Given the description of an element on the screen output the (x, y) to click on. 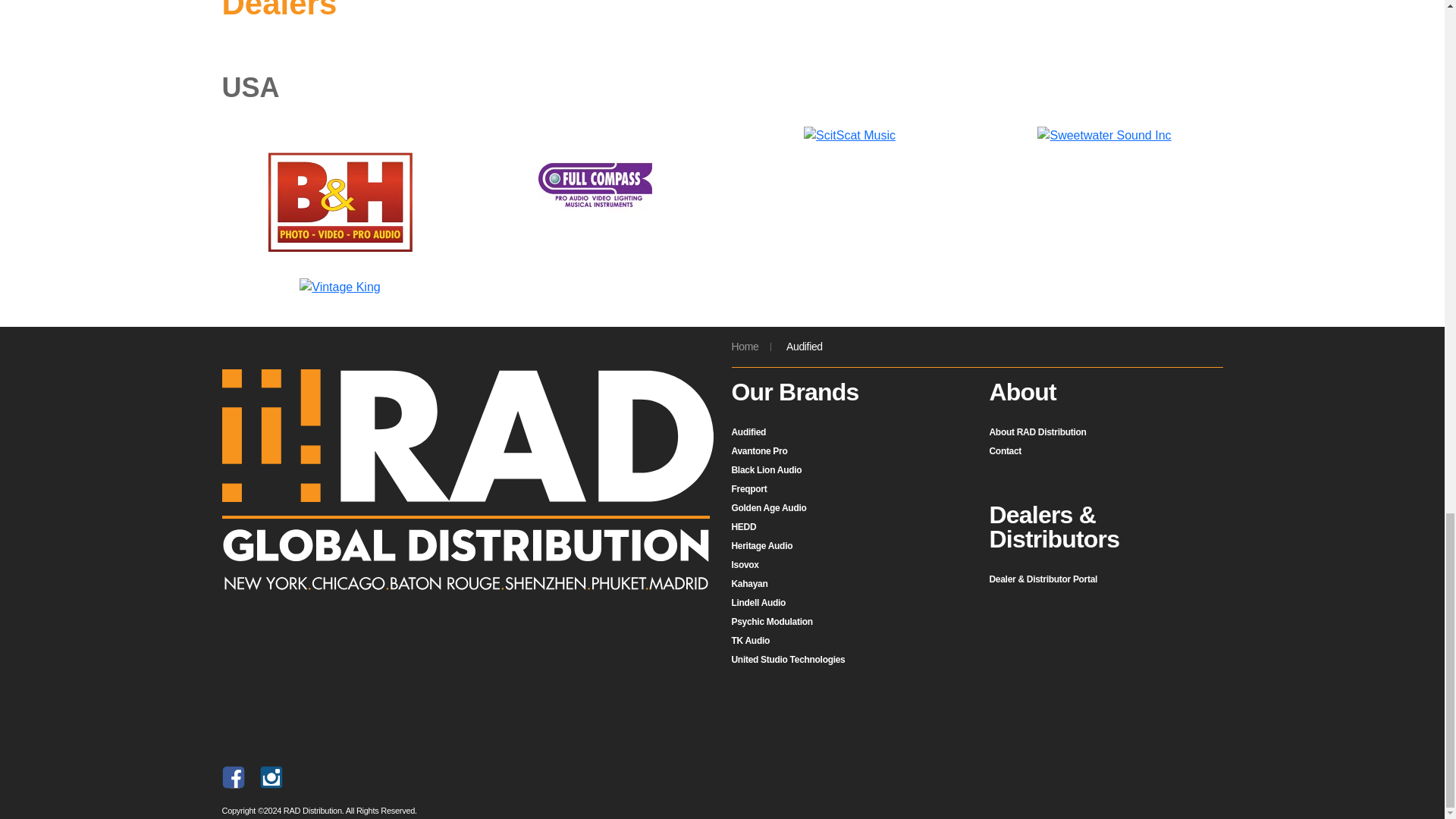
Vintage King (339, 287)
Sweetwater Sound Inc (1103, 135)
Full Compass (595, 182)
ScitScat Music (849, 135)
